Given the description of an element on the screen output the (x, y) to click on. 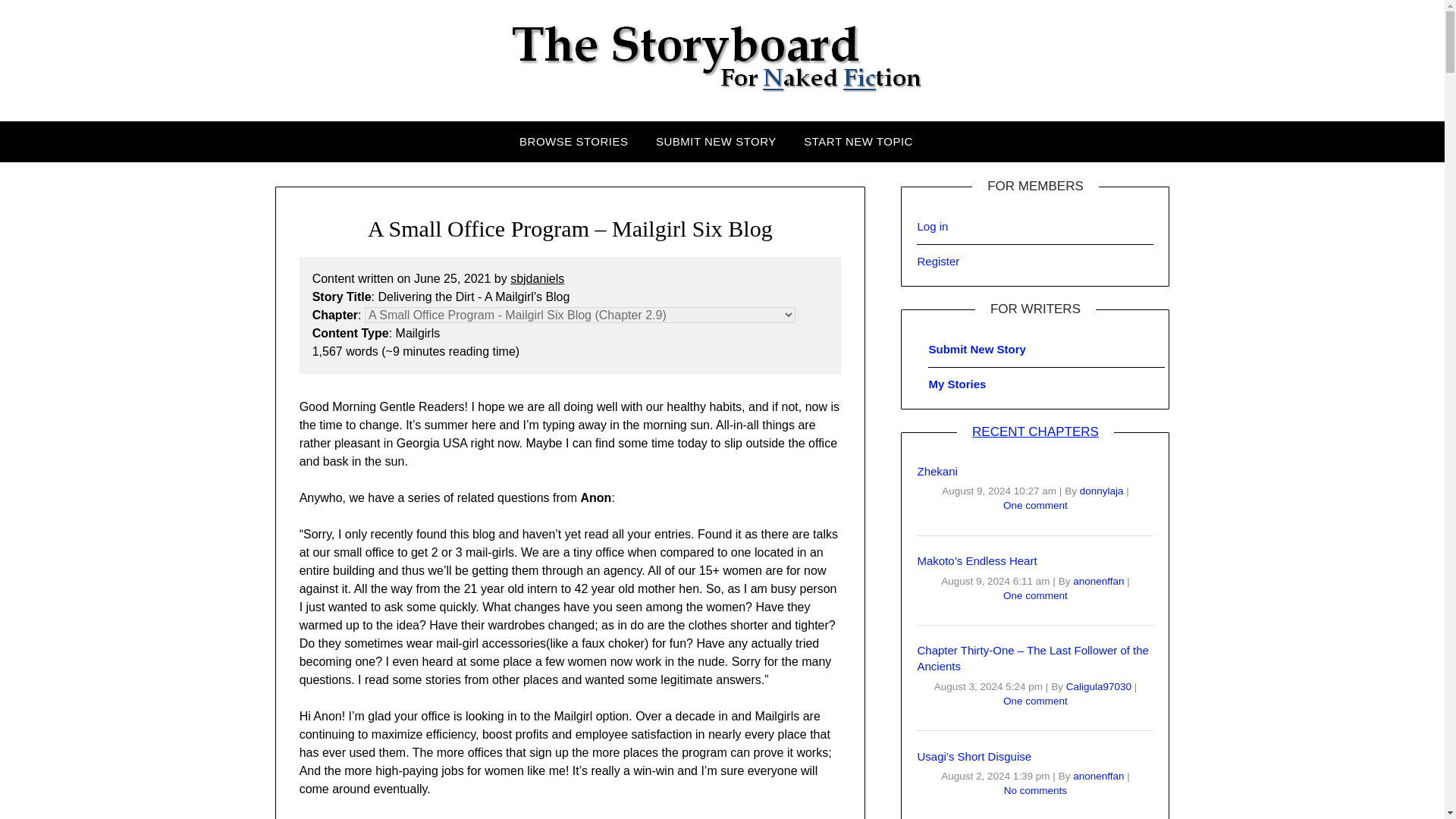
SUBMIT NEW STORY (716, 141)
START NEW TOPIC (858, 141)
BROWSE STORIES (579, 141)
sbjdaniels (537, 278)
